Given the description of an element on the screen output the (x, y) to click on. 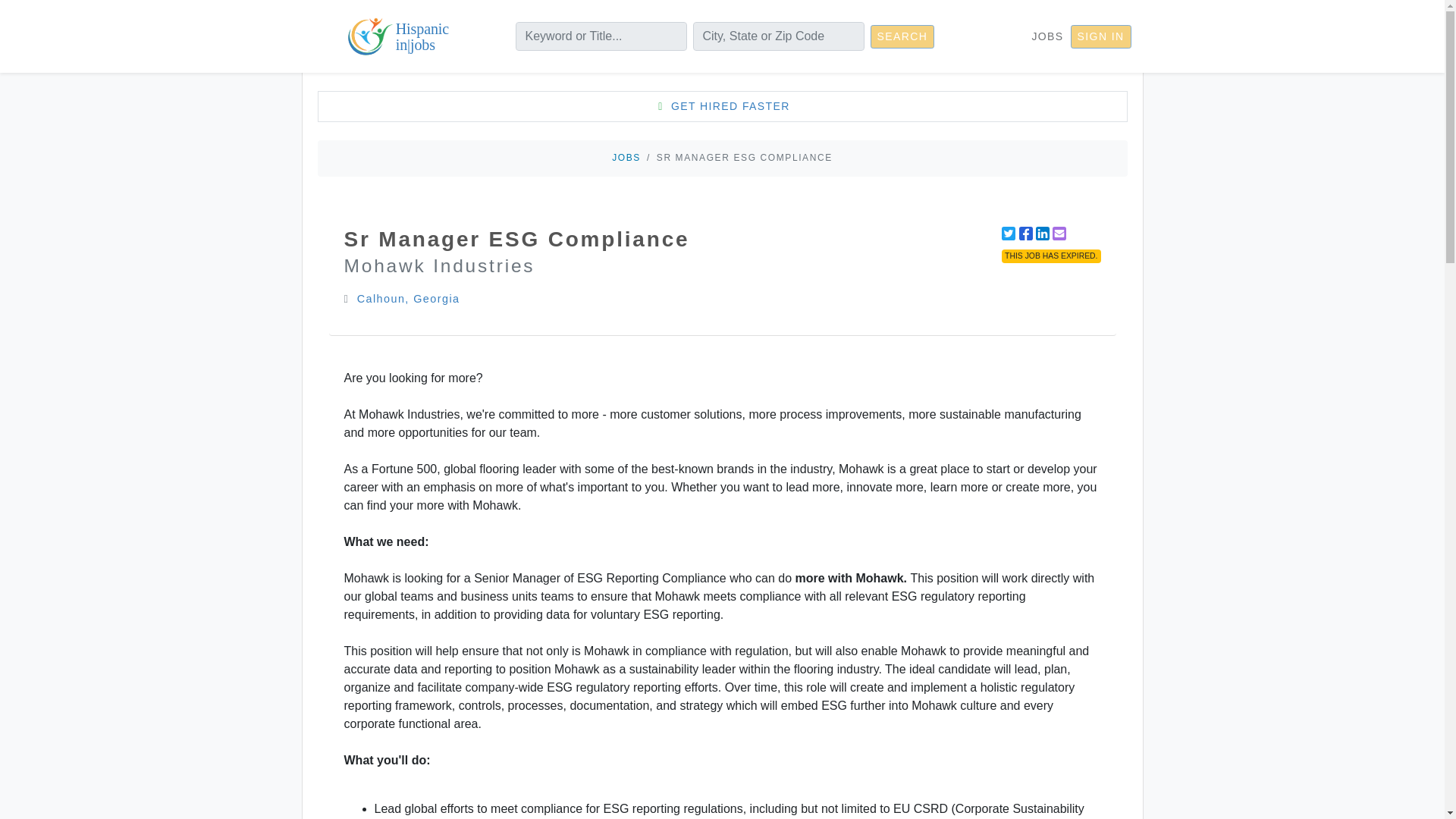
JOBS (625, 157)
Calhoun, Georgia (408, 298)
